Given the description of an element on the screen output the (x, y) to click on. 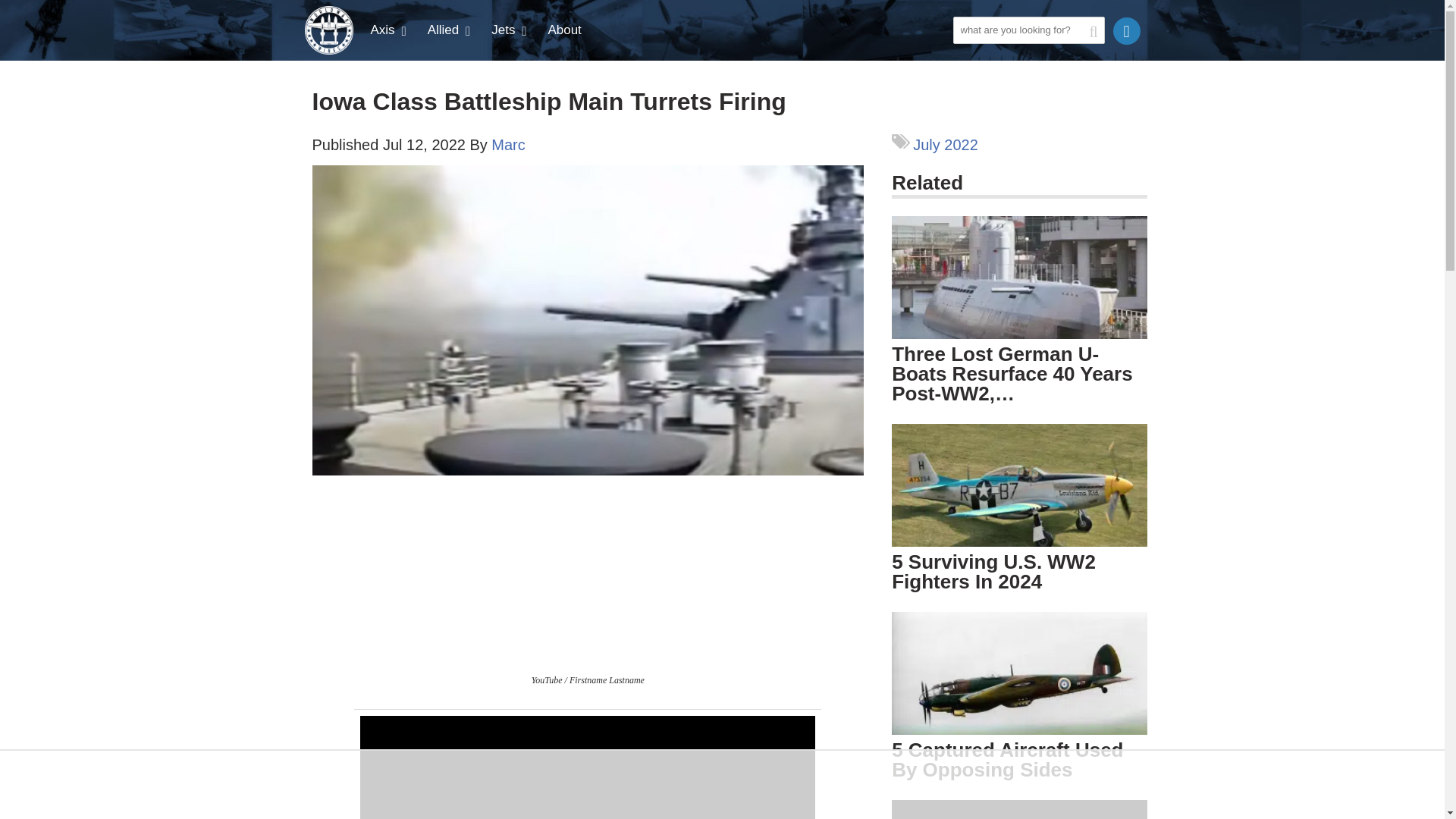
Search for: (1027, 30)
5 Surviving U.S. WW2 Fighters in 2024 (993, 571)
Jets (509, 29)
Axis (389, 29)
5 Surviving U.S. WW2 Fighters in 2024 (1019, 485)
5 Surviving U.S. WW2 Fighters in 2024 (1019, 495)
Search (967, 56)
Allied (449, 29)
Search (967, 56)
